Given the description of an element on the screen output the (x, y) to click on. 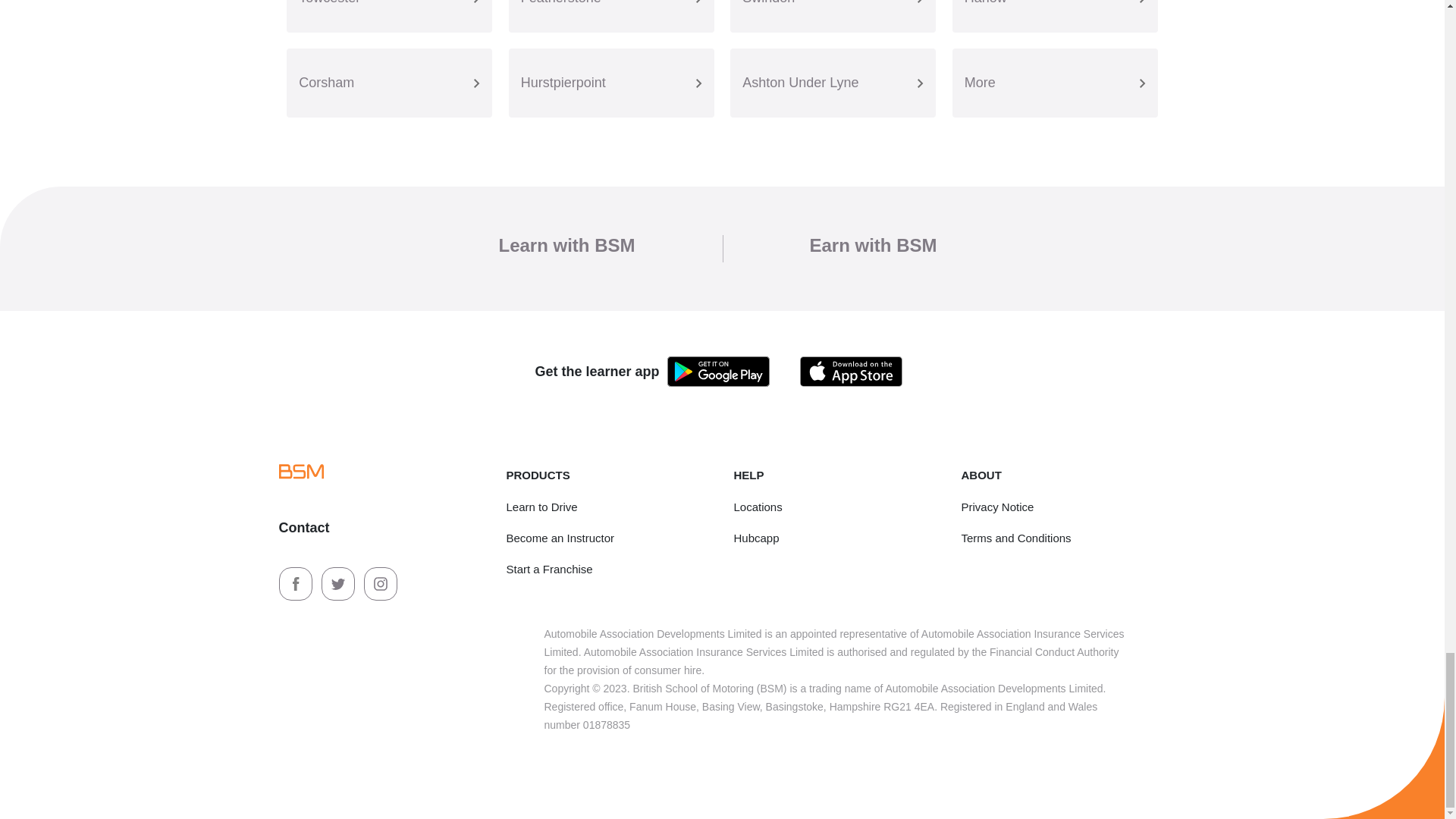
Download our app at the Apple app store (850, 370)
Instagram (380, 582)
Towcester (389, 16)
Corsham (389, 82)
Featherstone (611, 16)
Swindon (833, 16)
Harlow (1054, 16)
Learn with BSM (565, 245)
More (1054, 82)
Facebook (297, 582)
Earn with BSM (873, 245)
Ashton Under Lyne (833, 82)
Hurstpierpoint (611, 82)
Download our app at Google Play (718, 370)
Twitter (339, 582)
